Given the description of an element on the screen output the (x, y) to click on. 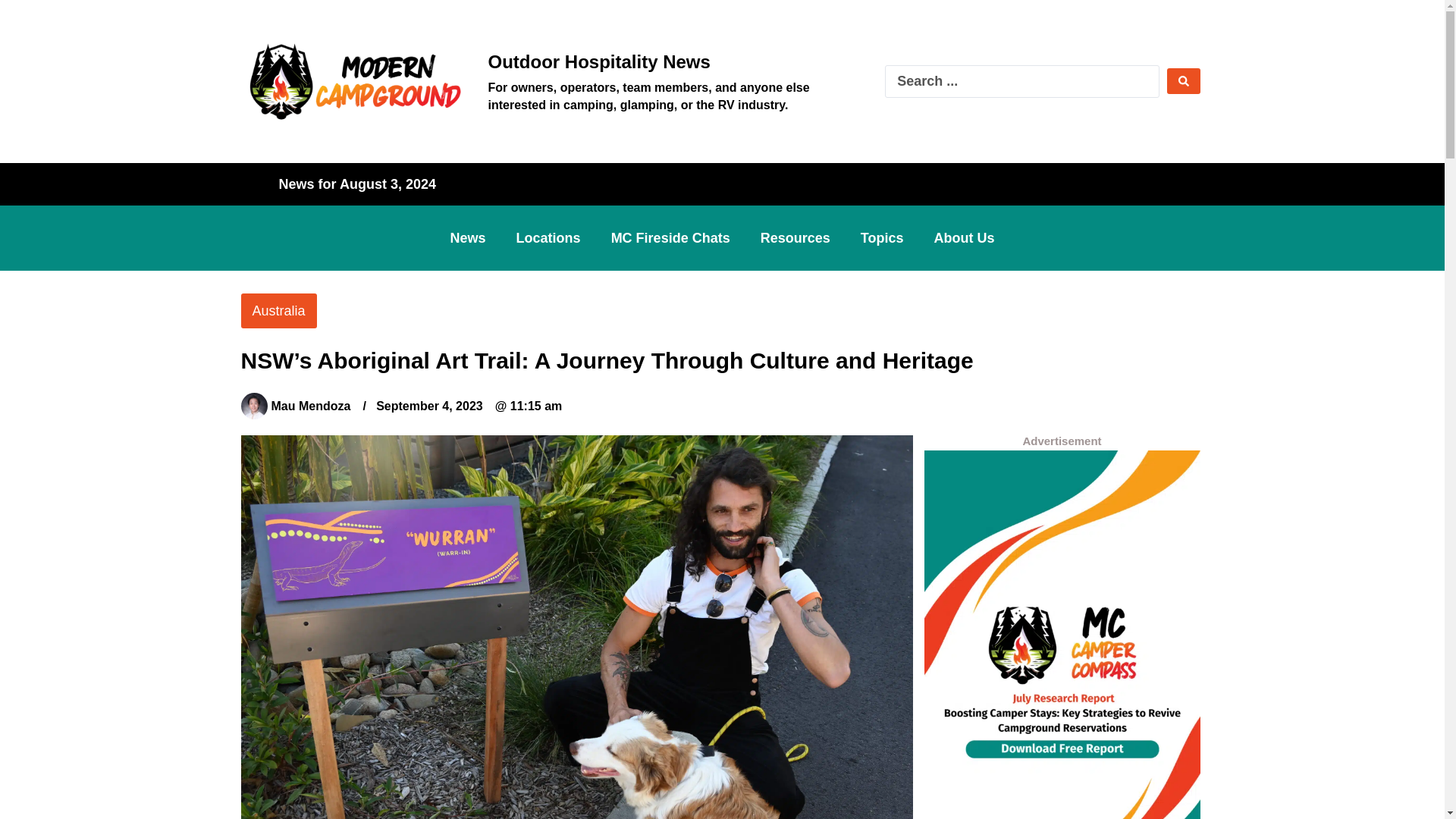
MC Fireside Chats (670, 237)
News (467, 237)
Locations (547, 237)
Resources (795, 237)
